Given the description of an element on the screen output the (x, y) to click on. 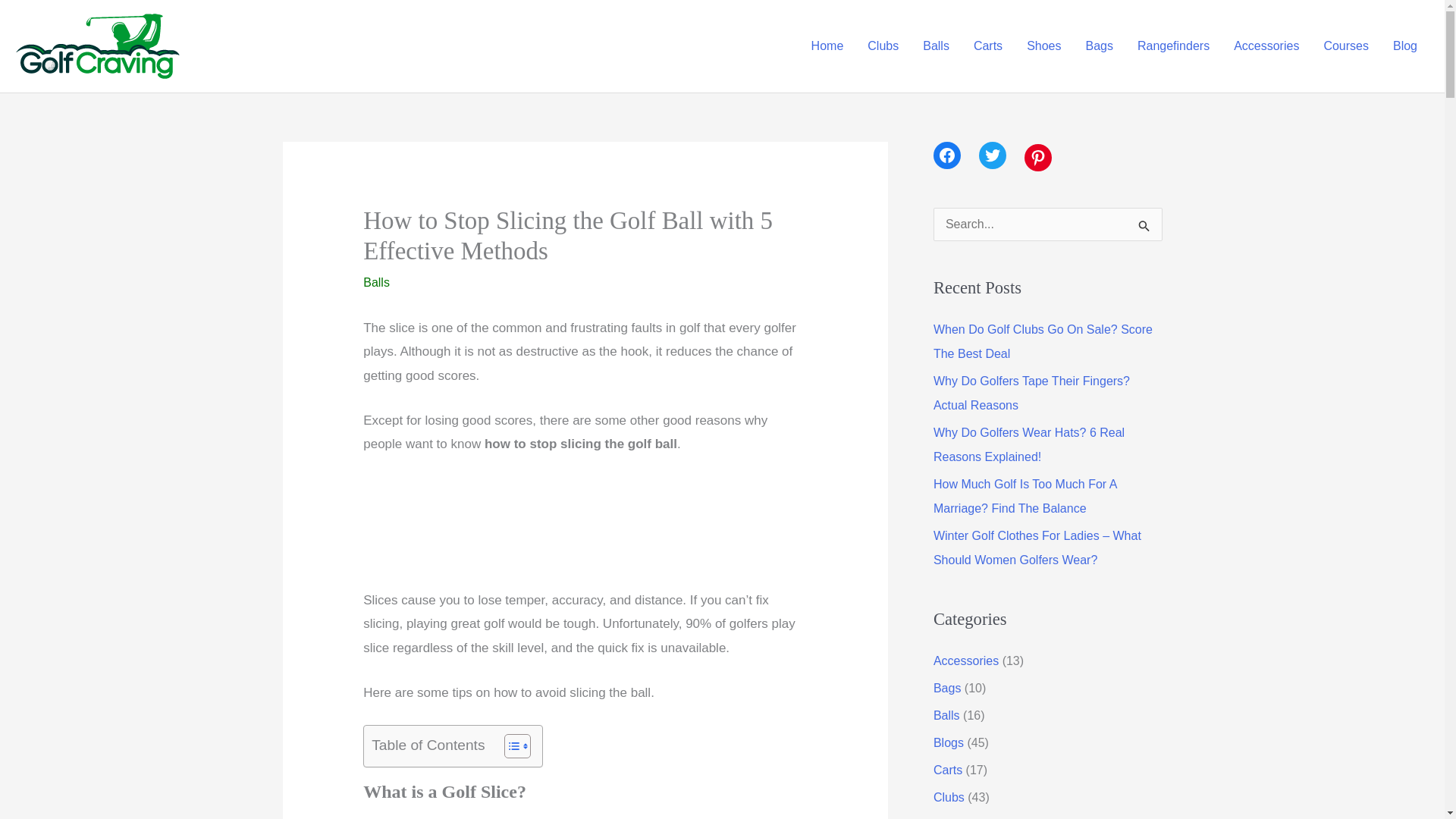
Search (1144, 229)
Accessories (1266, 45)
Bags (1099, 45)
Rangefinders (1173, 45)
Advertisement (584, 532)
Clubs (883, 45)
Shoes (1043, 45)
Courses (1345, 45)
Carts (987, 45)
Home (827, 45)
Blog (1404, 45)
Search (1144, 229)
Balls (376, 282)
Balls (935, 45)
